Given the description of an element on the screen output the (x, y) to click on. 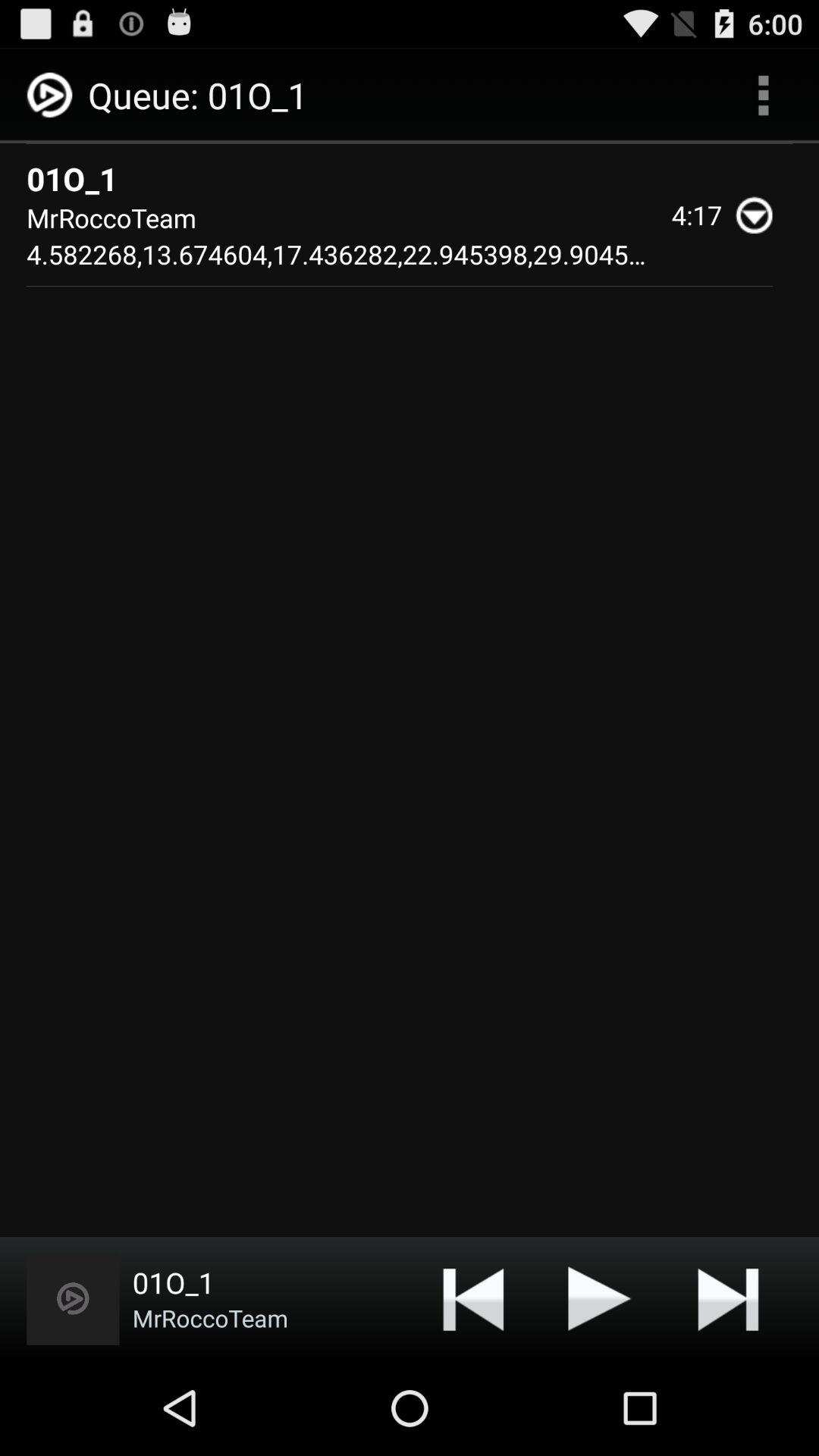
choose icon next to the 01o_1 item (763, 95)
